Given the description of an element on the screen output the (x, y) to click on. 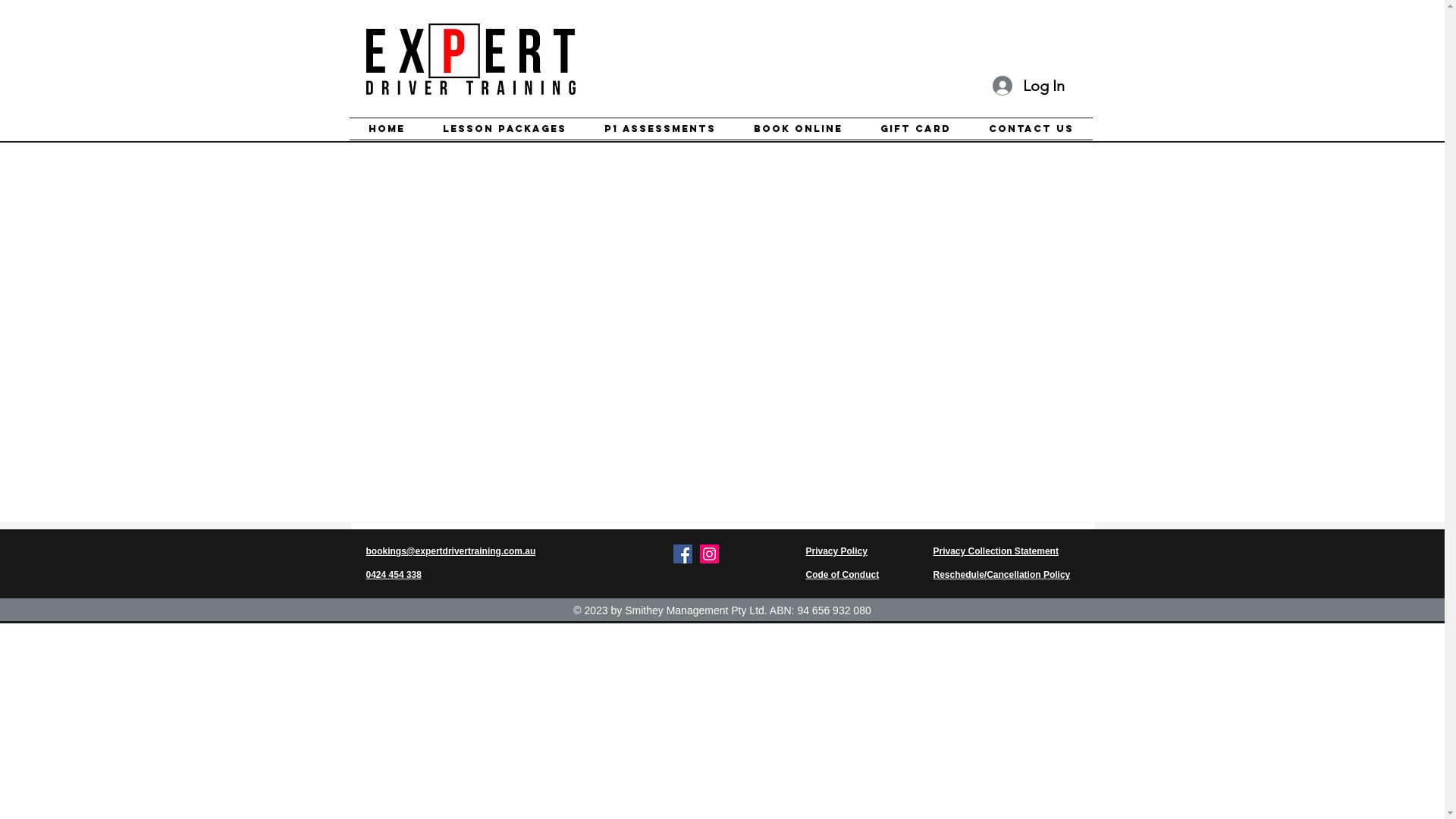
P1 Assessments Element type: text (659, 128)
Log In Element type: text (1027, 85)
Privacy Collection Statement Element type: text (994, 550)
Home Element type: text (385, 128)
Code of Conduct Element type: text (841, 574)
Privacy Policy Element type: text (835, 550)
Contact Us Element type: text (1030, 128)
Reschedule/Cancellation Policy Element type: text (1001, 574)
0424 454 338 Element type: text (392, 574)
Gift Card Element type: text (915, 128)
Book Online Element type: text (797, 128)
Lesson Packages Element type: text (503, 128)
bookings@expertdrivertraining.com.au Element type: text (450, 551)
